Given the description of an element on the screen output the (x, y) to click on. 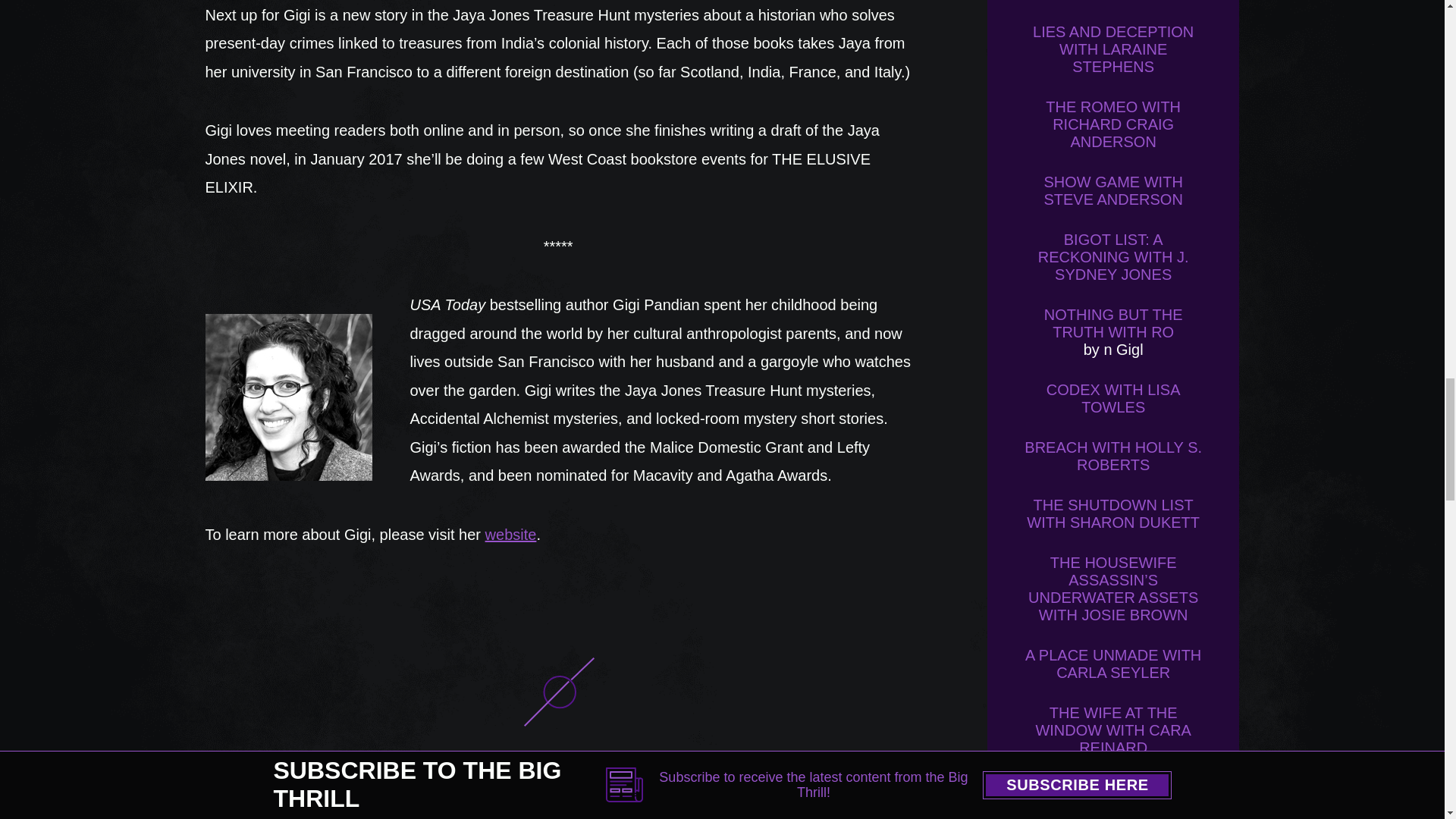
Cathy Perkins (284, 810)
